Given the description of an element on the screen output the (x, y) to click on. 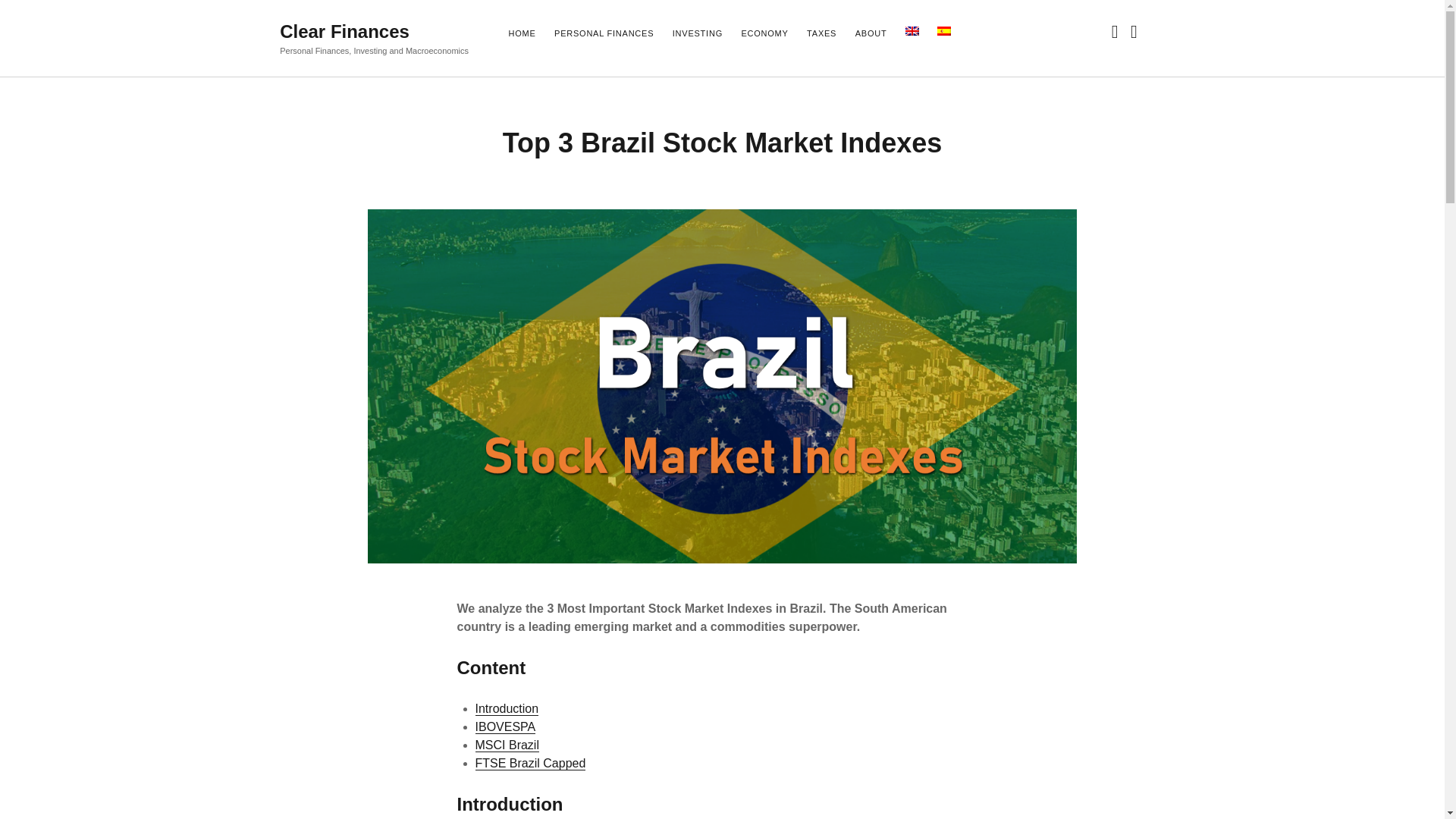
FTSE Brazil Capped (531, 763)
Clear Finances (344, 31)
INVESTING (697, 33)
IBOVESPA (505, 726)
HOME (521, 33)
ECONOMY (764, 33)
TAXES (820, 33)
Introduction (507, 708)
PERSONAL FINANCES (603, 33)
ABOUT (871, 33)
